Given the description of an element on the screen output the (x, y) to click on. 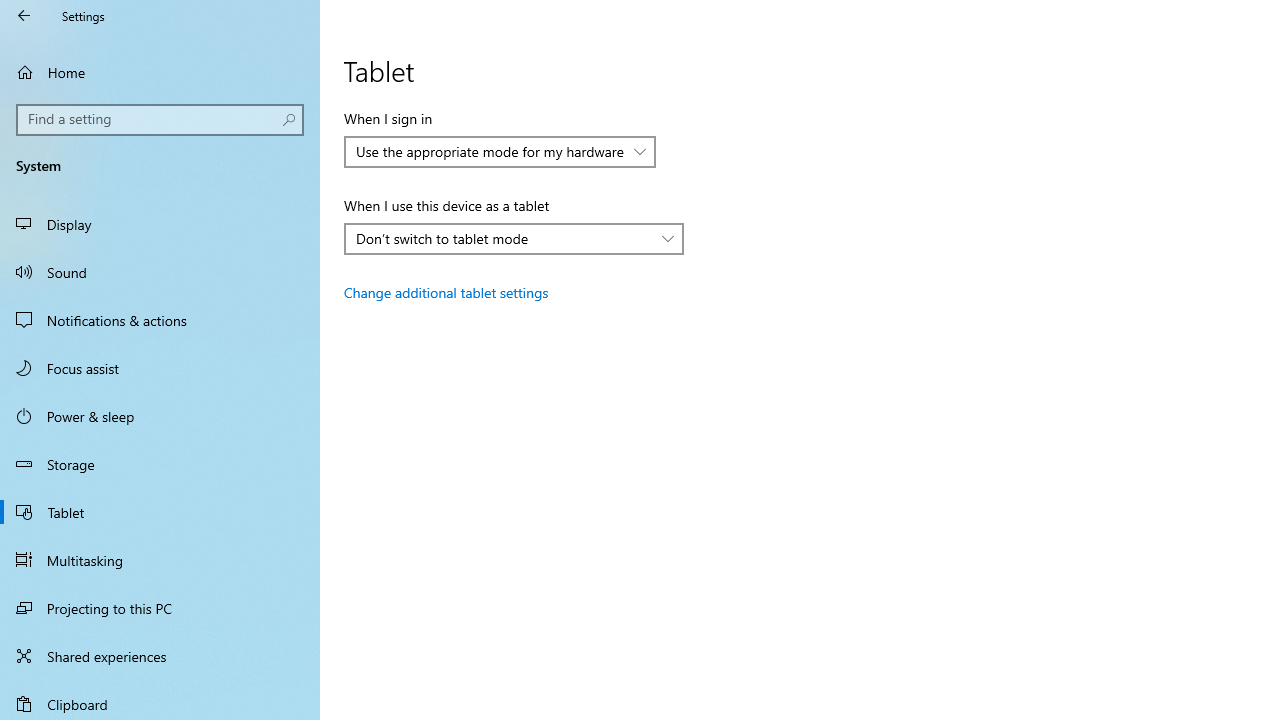
Focus assist (160, 367)
Display (160, 223)
